Given the description of an element on the screen output the (x, y) to click on. 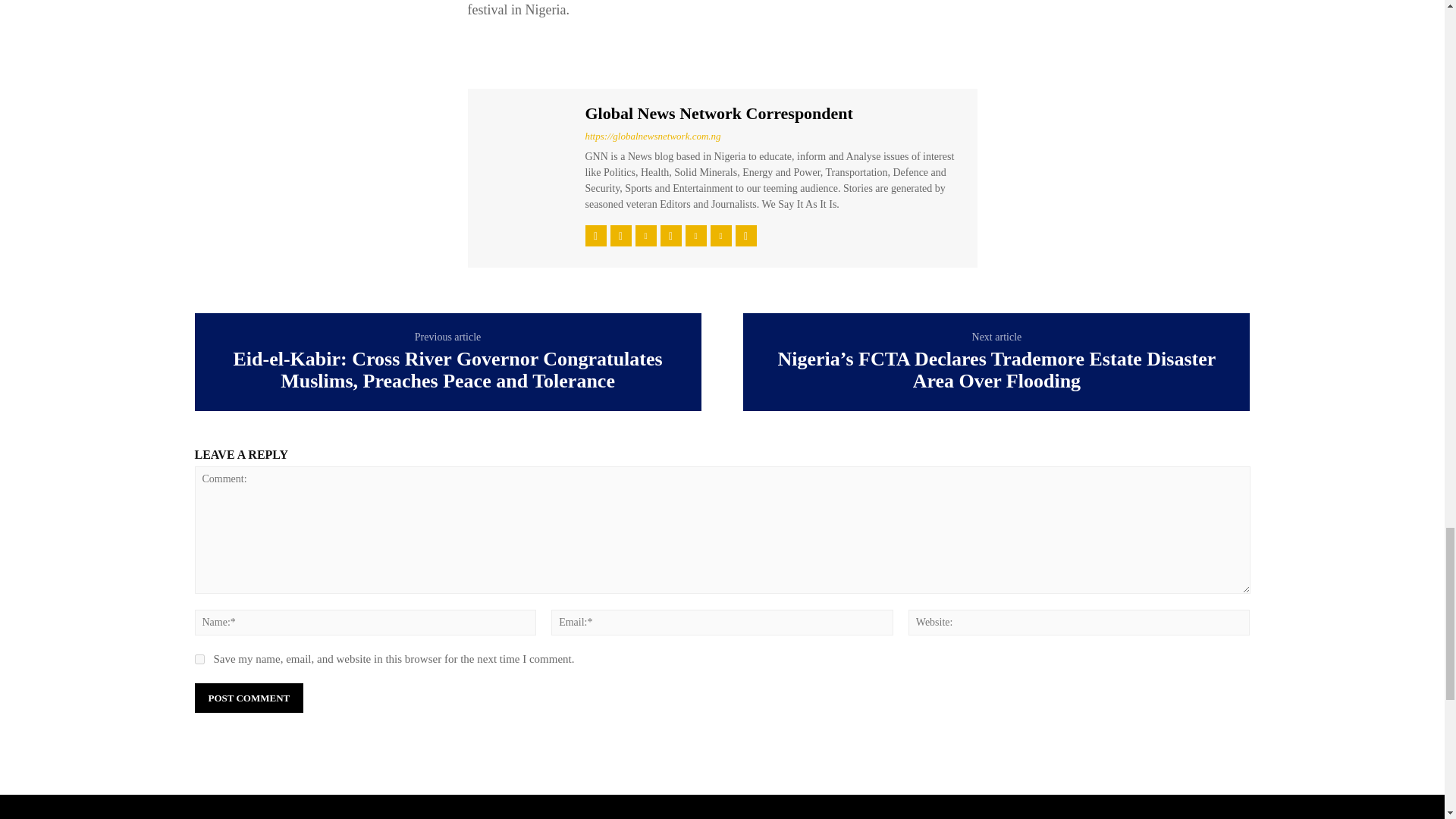
Post Comment (247, 697)
yes (198, 659)
